Given the description of an element on the screen output the (x, y) to click on. 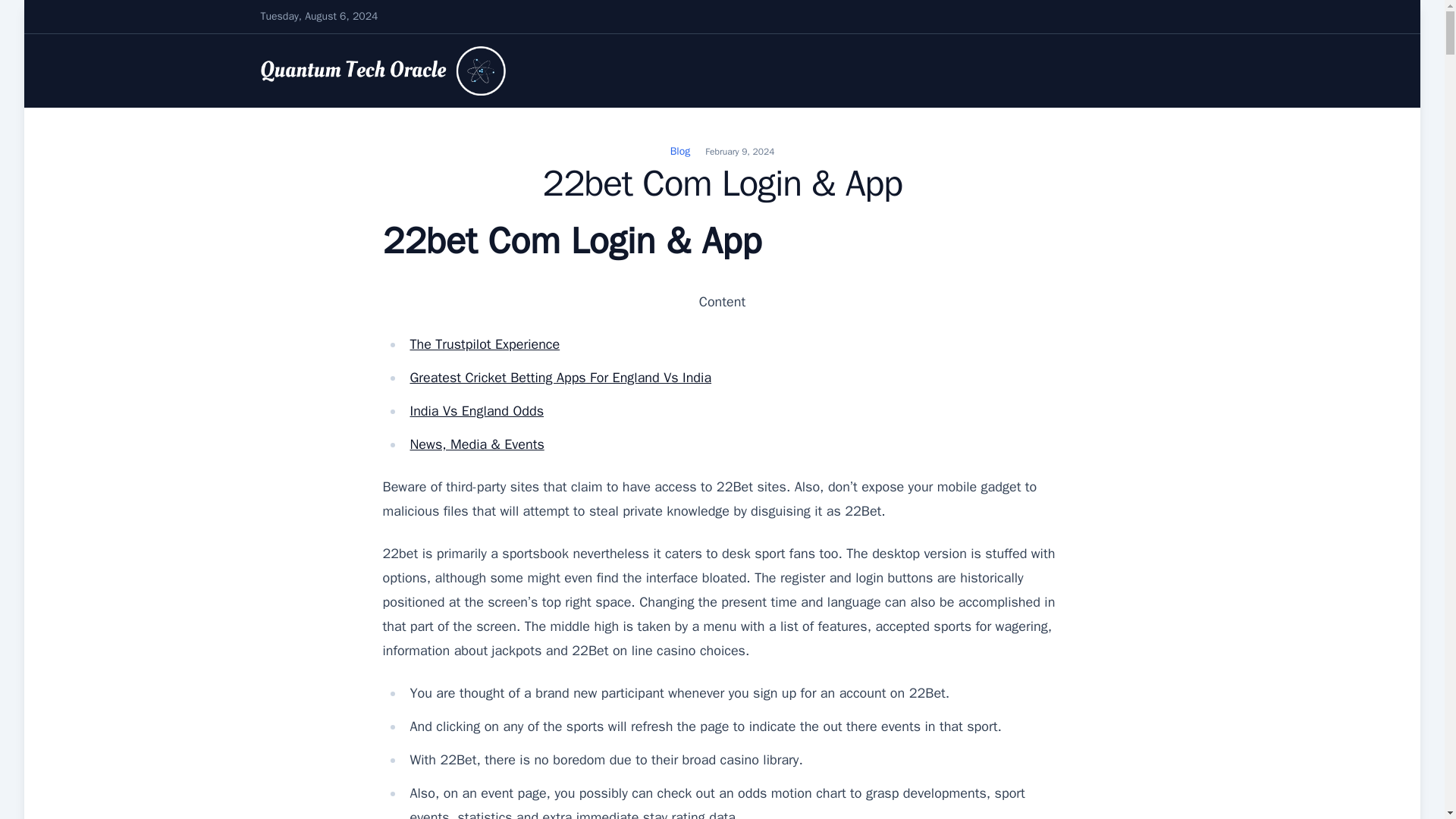
Greatest Cricket Betting Apps For England Vs India (560, 377)
February 9, 2024 (739, 151)
Blog (679, 151)
The Trustpilot Experience (484, 343)
India Vs England Odds (476, 410)
